Given the description of an element on the screen output the (x, y) to click on. 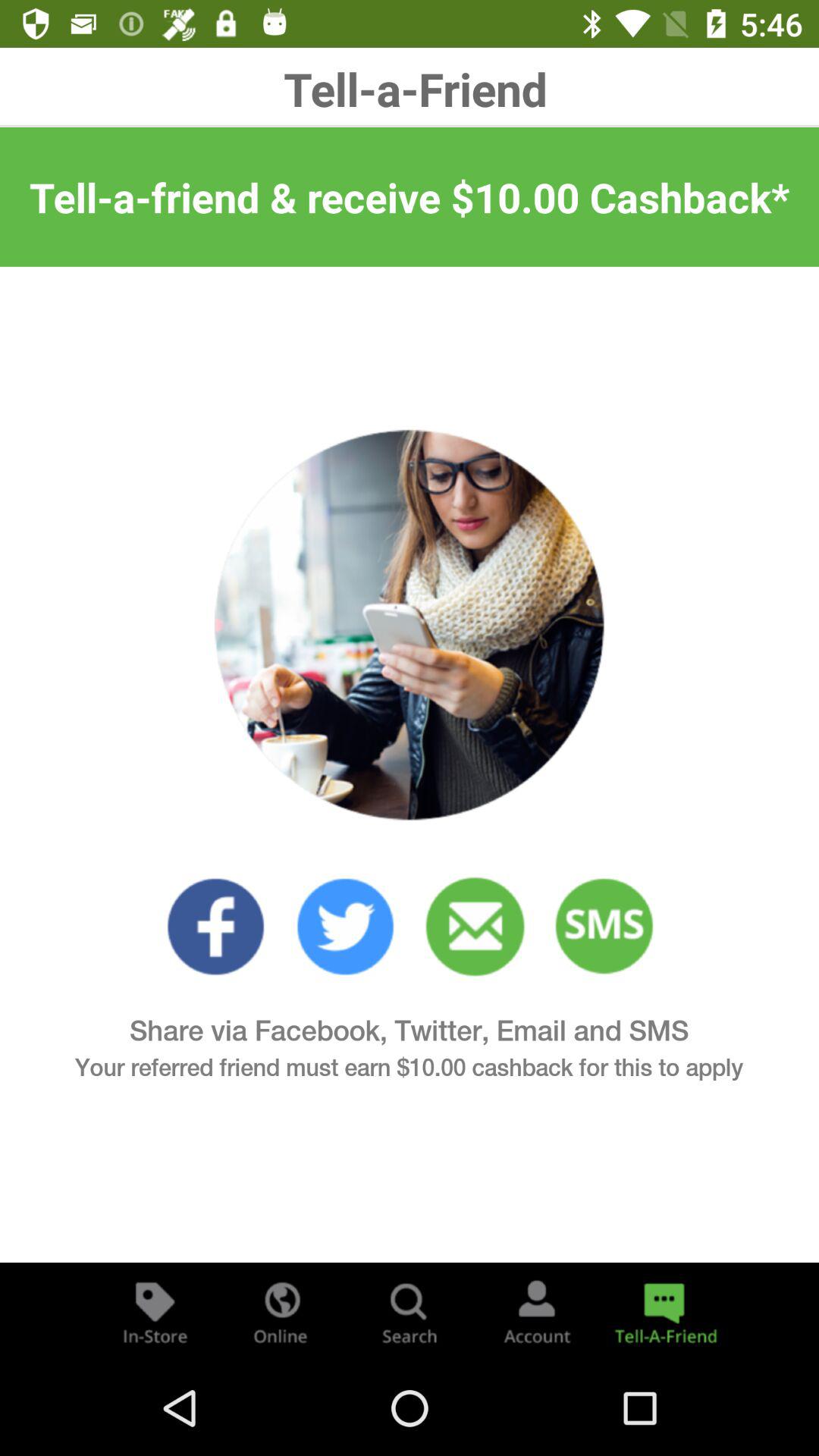
go online (281, 1311)
